Given the description of an element on the screen output the (x, y) to click on. 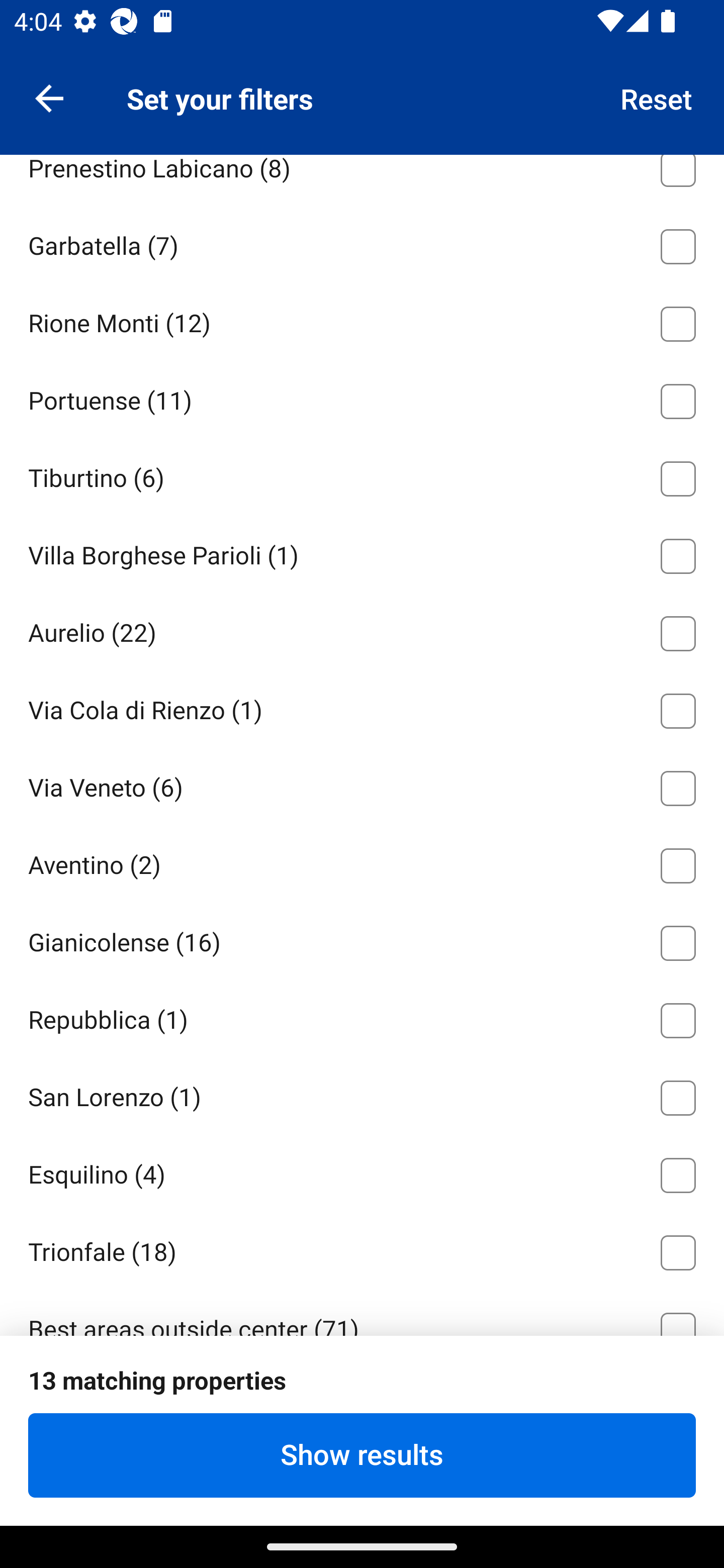
Navigate up (49, 97)
Tor Di Quinto ⁦(2) (361, 88)
Reset (656, 97)
Prenestino Labicano ⁦(8) (361, 179)
Garbatella ⁦(7) (361, 242)
Rione Monti ⁦(12) (361, 320)
Portuense ⁦(11) (361, 398)
Tiburtino ⁦(6) (361, 475)
Villa Borghese Parioli ⁦(1) (361, 552)
Aurelio ⁦(22) (361, 630)
Via Cola di Rienzo ⁦(1) (361, 707)
Via Veneto ⁦(6) (361, 784)
Aventino ⁦(2) (361, 862)
Gianicolense ⁦(16) (361, 939)
Repubblica ⁦(1) (361, 1016)
San Lorenzo ⁦(1) (361, 1094)
Esquilino ⁦(4) (361, 1171)
Trionfale ⁦(18) (361, 1248)
Best areas outside center ⁦(71) (361, 1311)
Show results (361, 1454)
